Given the description of an element on the screen output the (x, y) to click on. 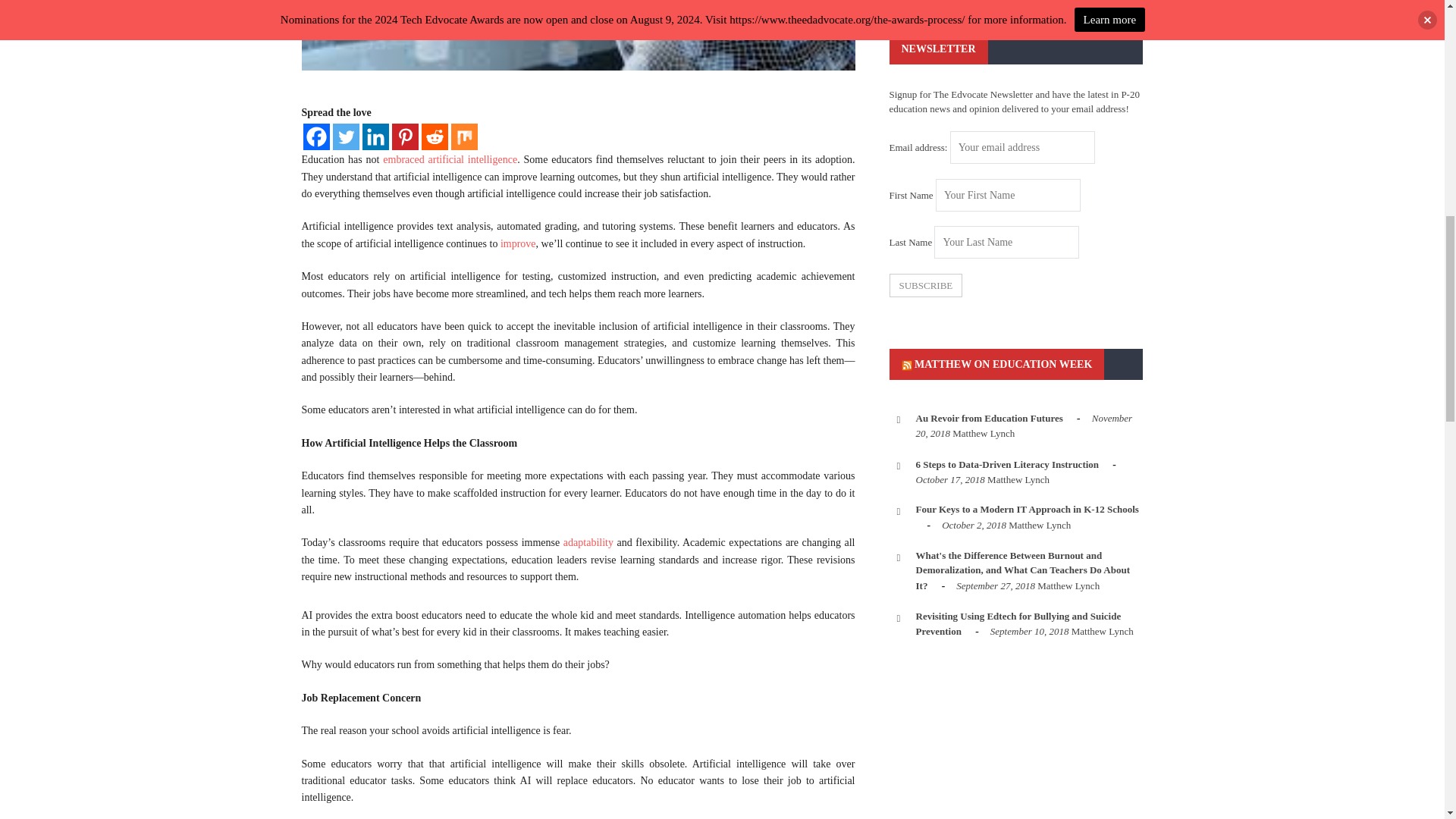
Pinterest (404, 136)
Twitter (344, 136)
Facebook (316, 136)
Mix (463, 136)
Subscribe (925, 284)
Linkedin (375, 136)
Reddit (435, 136)
